Given the description of an element on the screen output the (x, y) to click on. 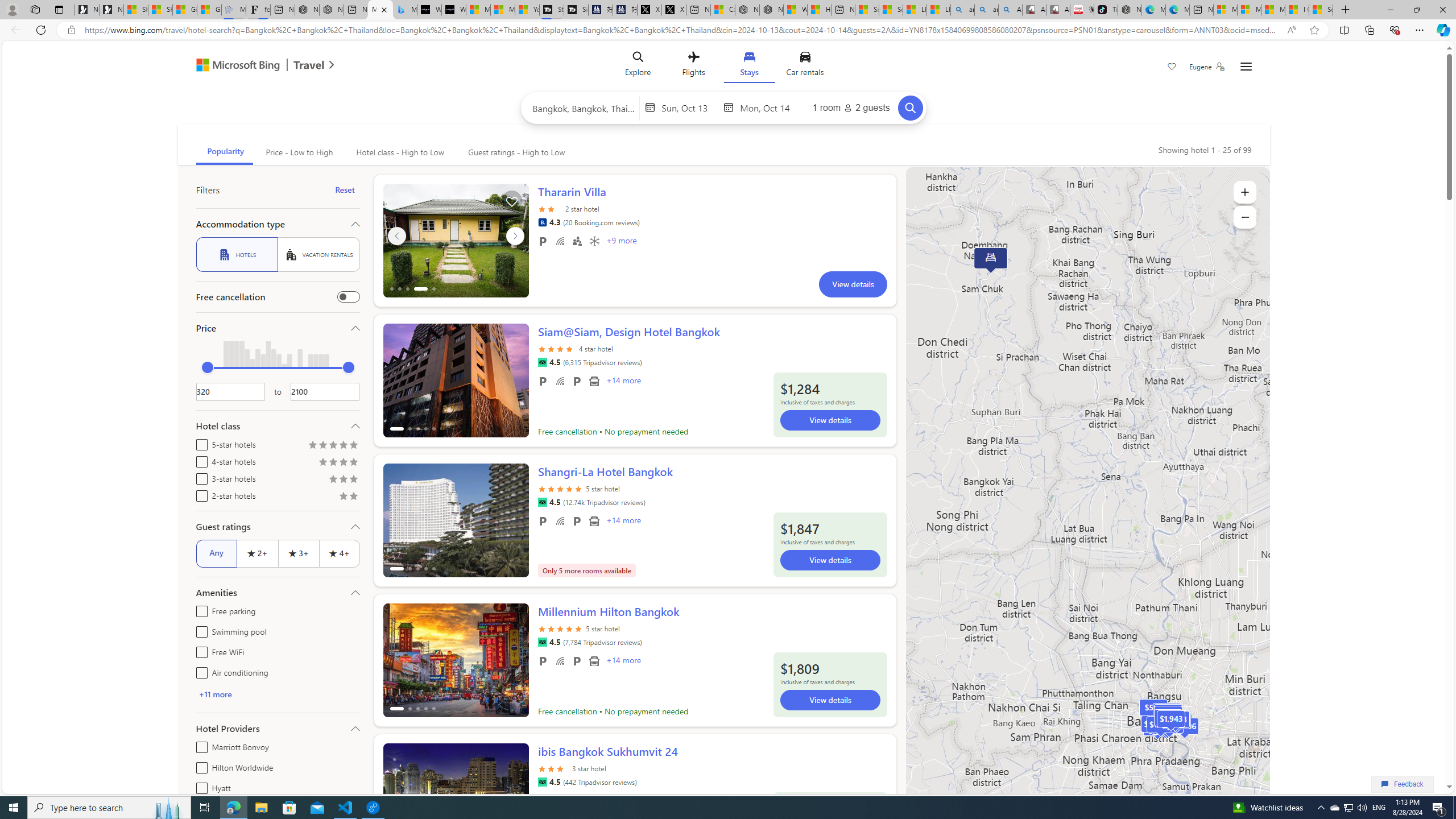
Microsoft Bing Travel - Stays in Bangkok, Bangkok, Thailand (380, 9)
+11 more (277, 694)
Zoom in (1244, 191)
Address and search bar (680, 29)
ScrollLeft (396, 795)
Microsoft account | Privacy (1248, 9)
Family friendly (577, 240)
AutomationID: TextField872 (230, 391)
min  (207, 367)
Free parking (199, 609)
Personal Profile (12, 9)
1 room2 guests (850, 107)
Zoom out (1244, 216)
Popularity (224, 152)
App bar (728, 29)
